Given the description of an element on the screen output the (x, y) to click on. 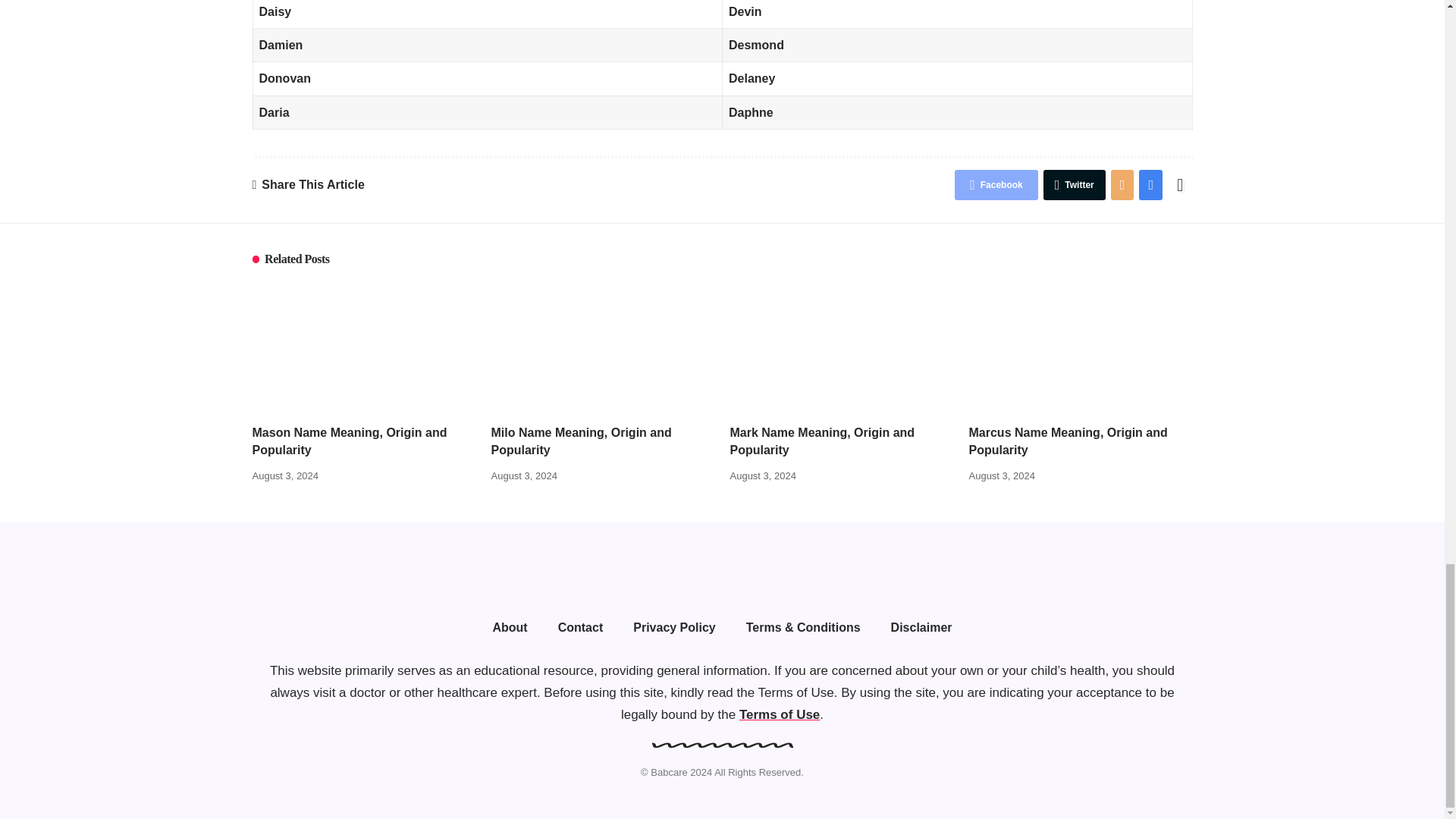
Marcus Name Meaning, Origin and Popularity (1080, 347)
Mark Name Meaning, Origin and Popularity (841, 347)
Milo Name Meaning, Origin and Popularity (603, 347)
Mason Name Meaning, Origin and Popularity (363, 347)
